Given the description of an element on the screen output the (x, y) to click on. 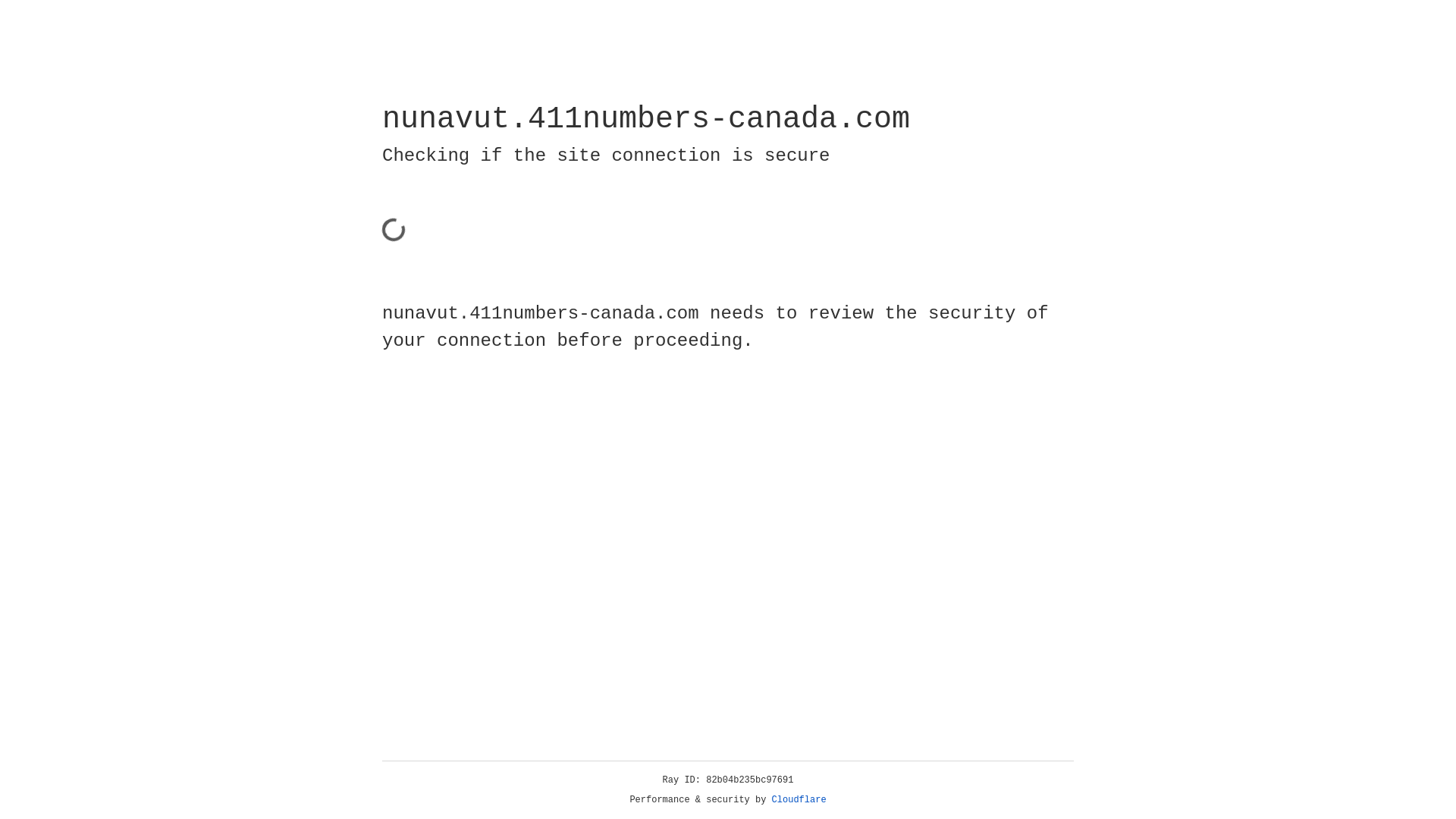
Cloudflare Element type: text (798, 799)
